Given the description of an element on the screen output the (x, y) to click on. 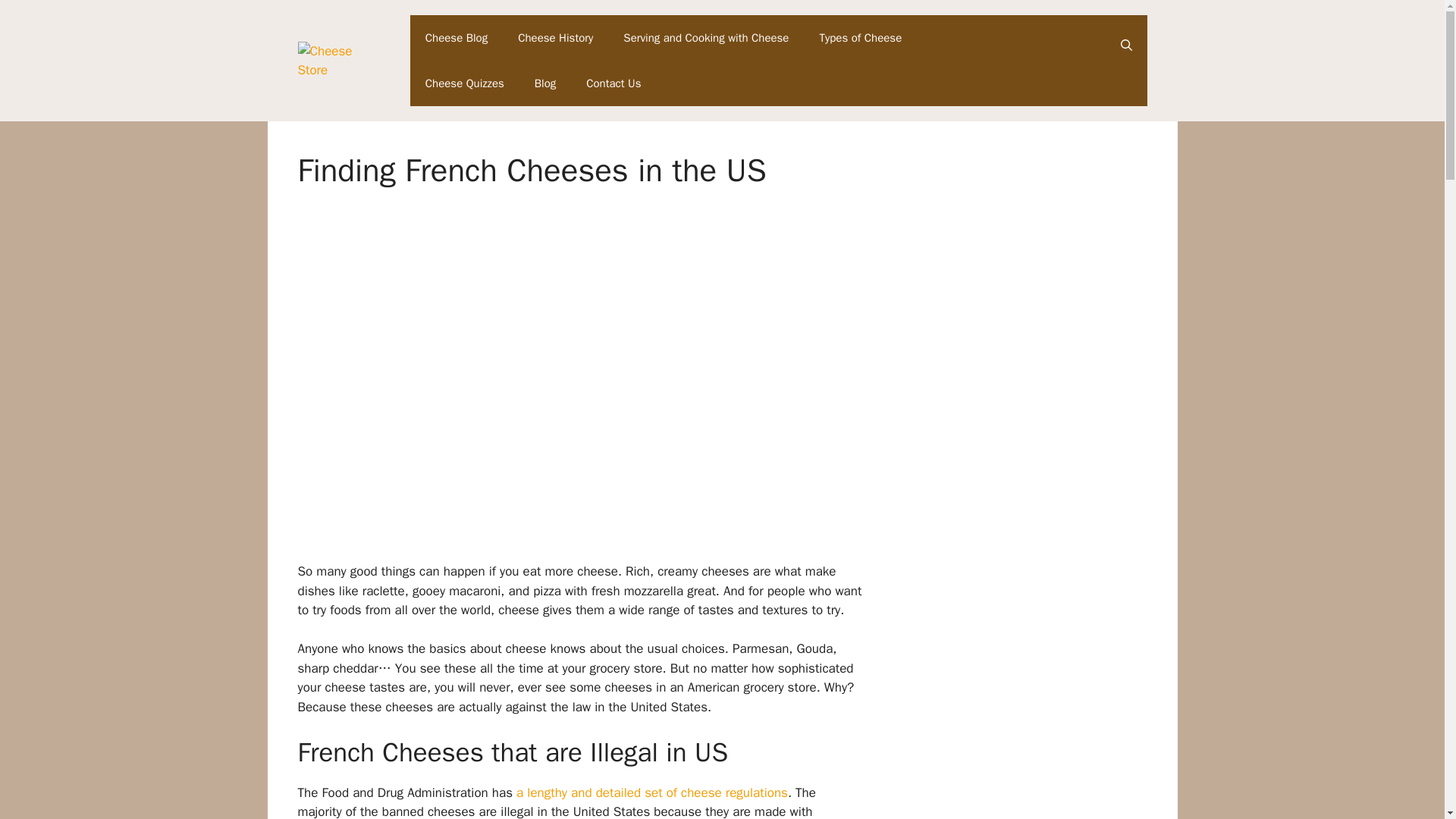
a lengthy and detailed set of cheese regulations (651, 792)
Serving and Cooking with Cheese (705, 37)
Contact Us (613, 83)
Blog (544, 83)
Cheese Quizzes (464, 83)
Types of Cheese (860, 37)
Cheese History (555, 37)
Cheese Blog (456, 37)
